Given the description of an element on the screen output the (x, y) to click on. 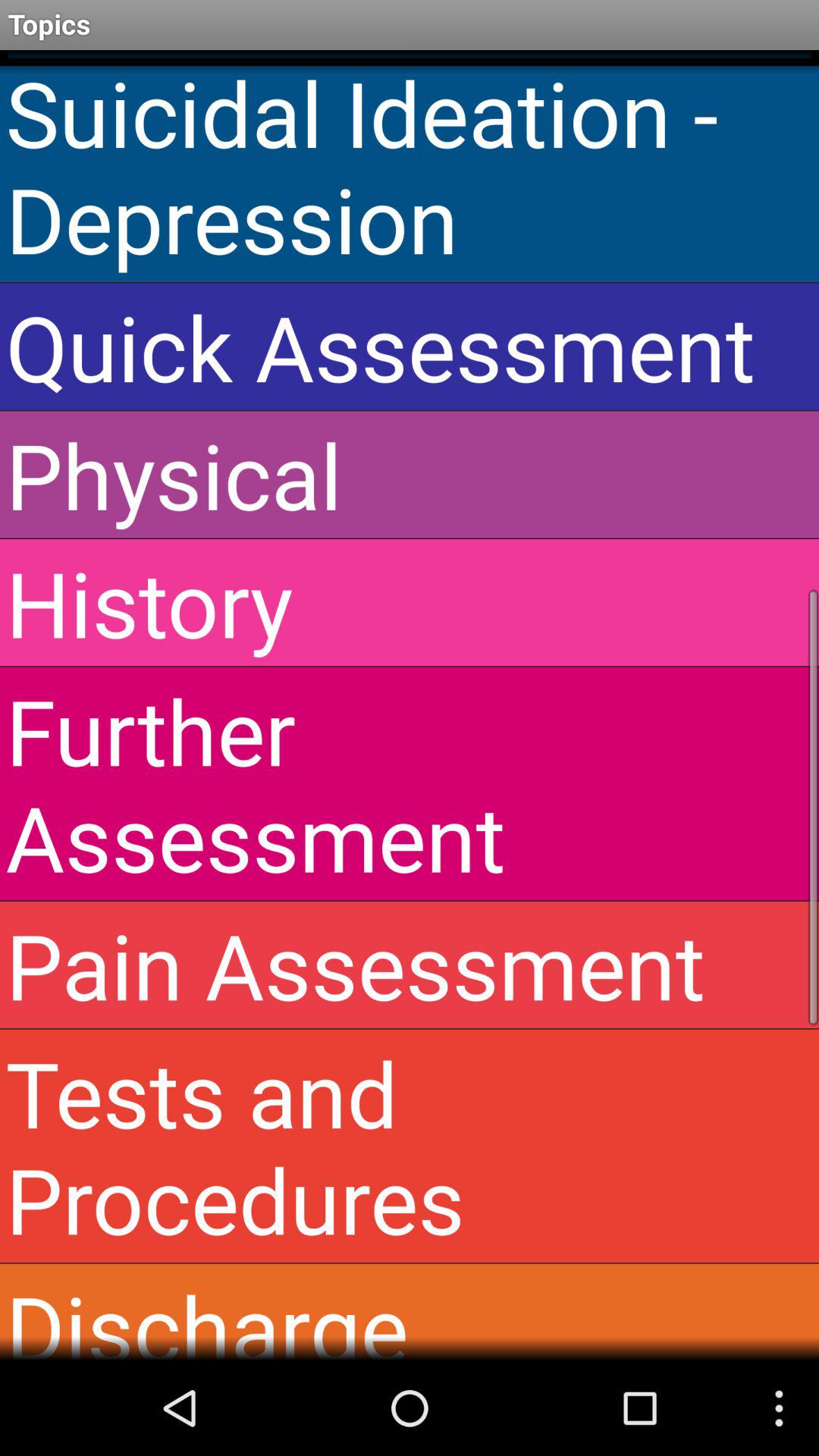
click the further assessment (409, 783)
